Given the description of an element on the screen output the (x, y) to click on. 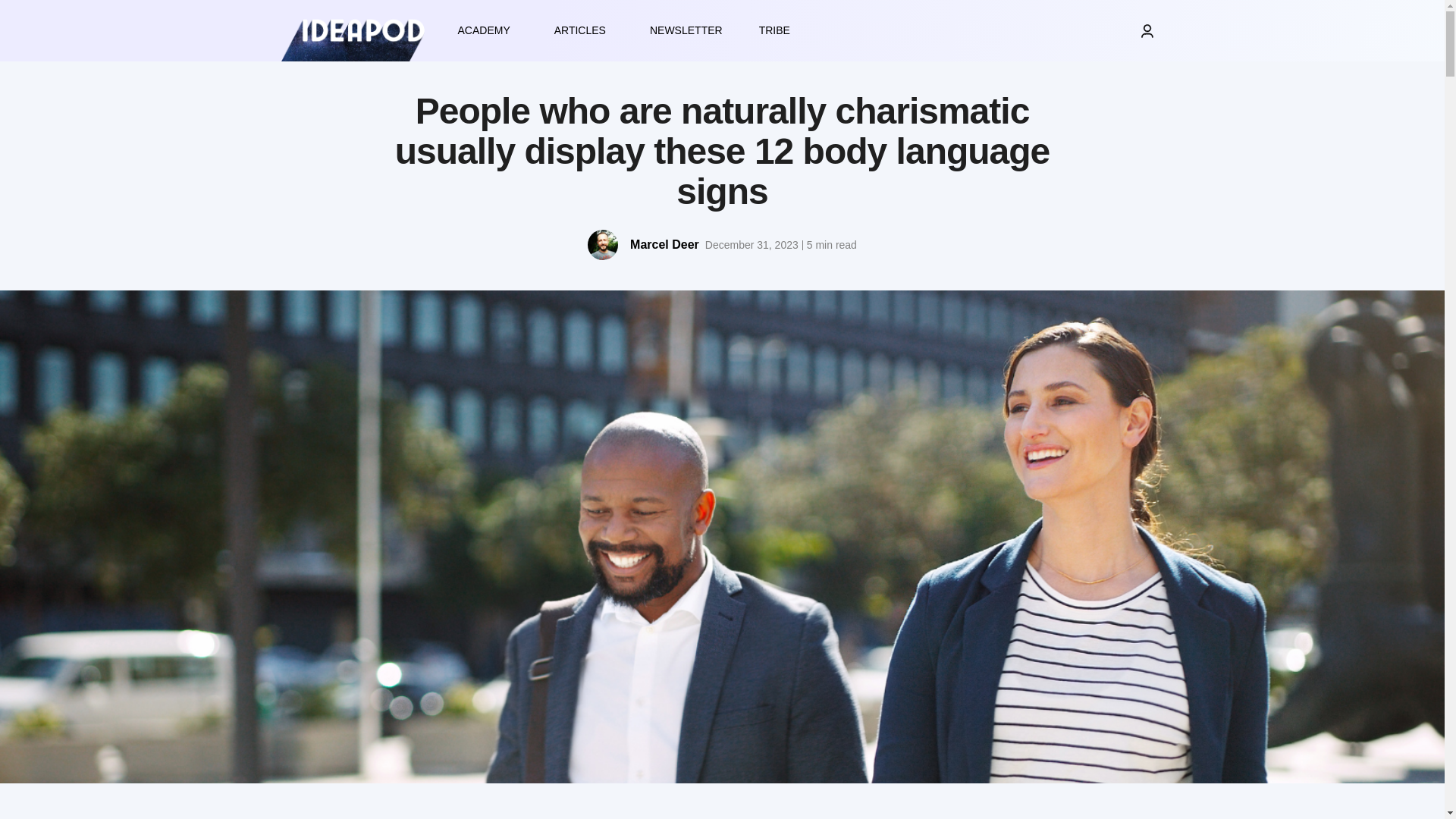
ACADEMY (487, 30)
ARTICLES (583, 30)
NEWSLETTER (686, 30)
